Given the description of an element on the screen output the (x, y) to click on. 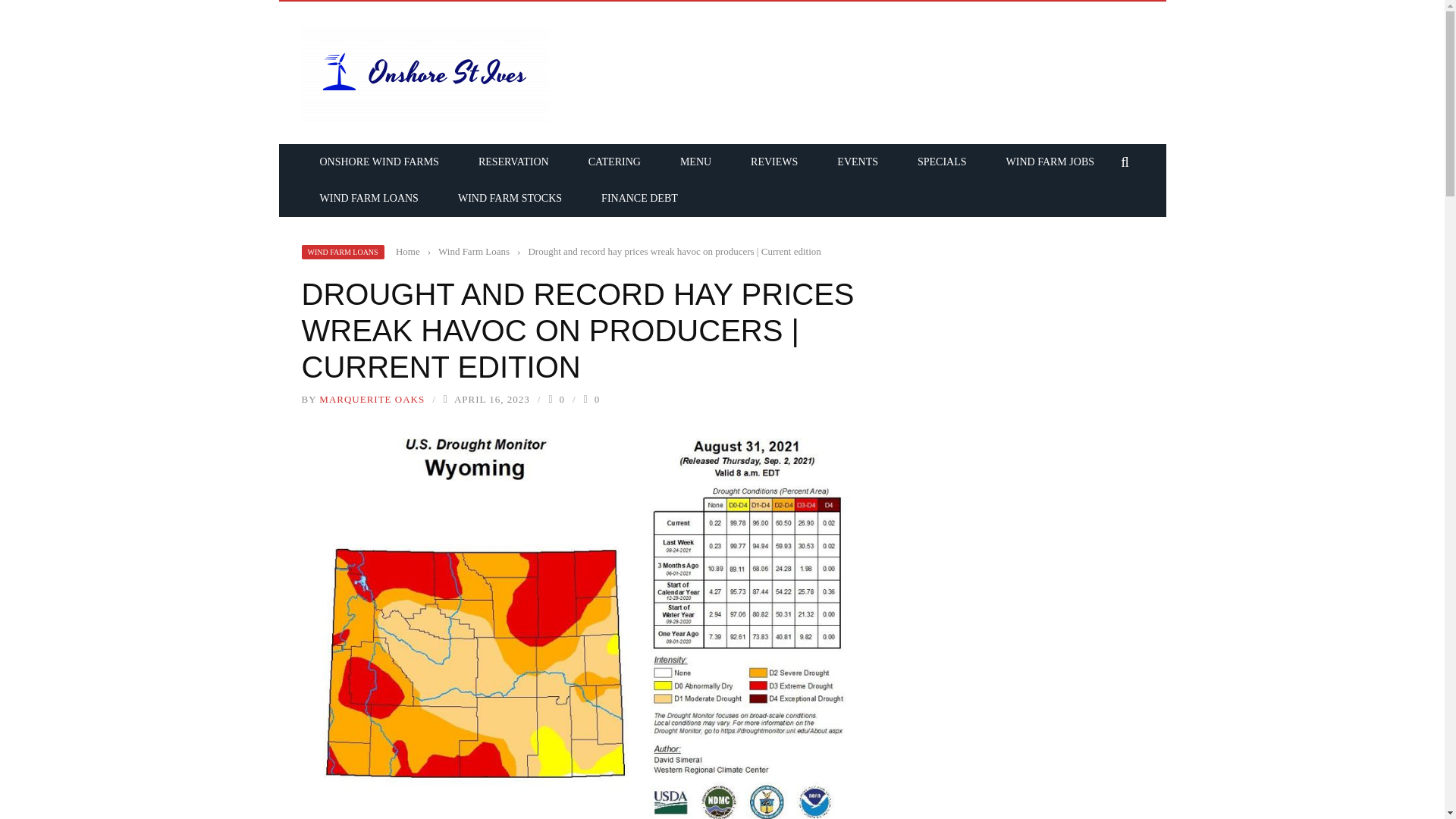
EVENTS (857, 161)
MARQUERITE OAKS (371, 398)
REVIEWS (773, 161)
Home (408, 251)
MENU (695, 161)
RESERVATION (513, 161)
ONSHORE WIND FARMS (379, 161)
SPECIALS (942, 161)
WIND FARM LOANS (342, 251)
FINANCE DEBT (639, 197)
